Given the description of an element on the screen output the (x, y) to click on. 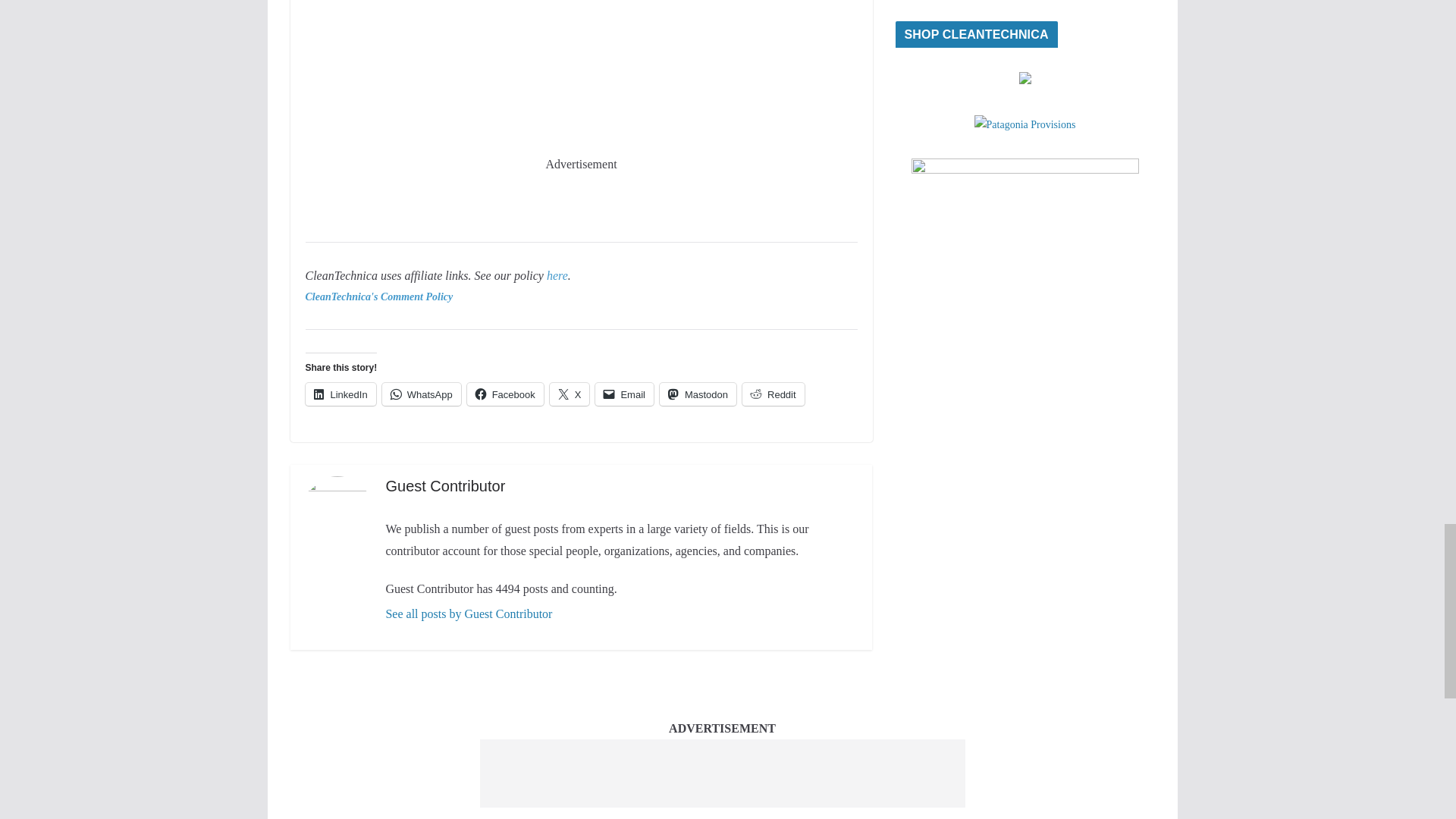
Click to share on Facebook (505, 394)
Click to share on Mastodon (697, 394)
Click to share on LinkedIn (339, 394)
Click to email a link to a friend (624, 394)
Click to share on WhatsApp (421, 394)
Click to share on X (569, 394)
Click to share on Reddit (773, 394)
